Given the description of an element on the screen output the (x, y) to click on. 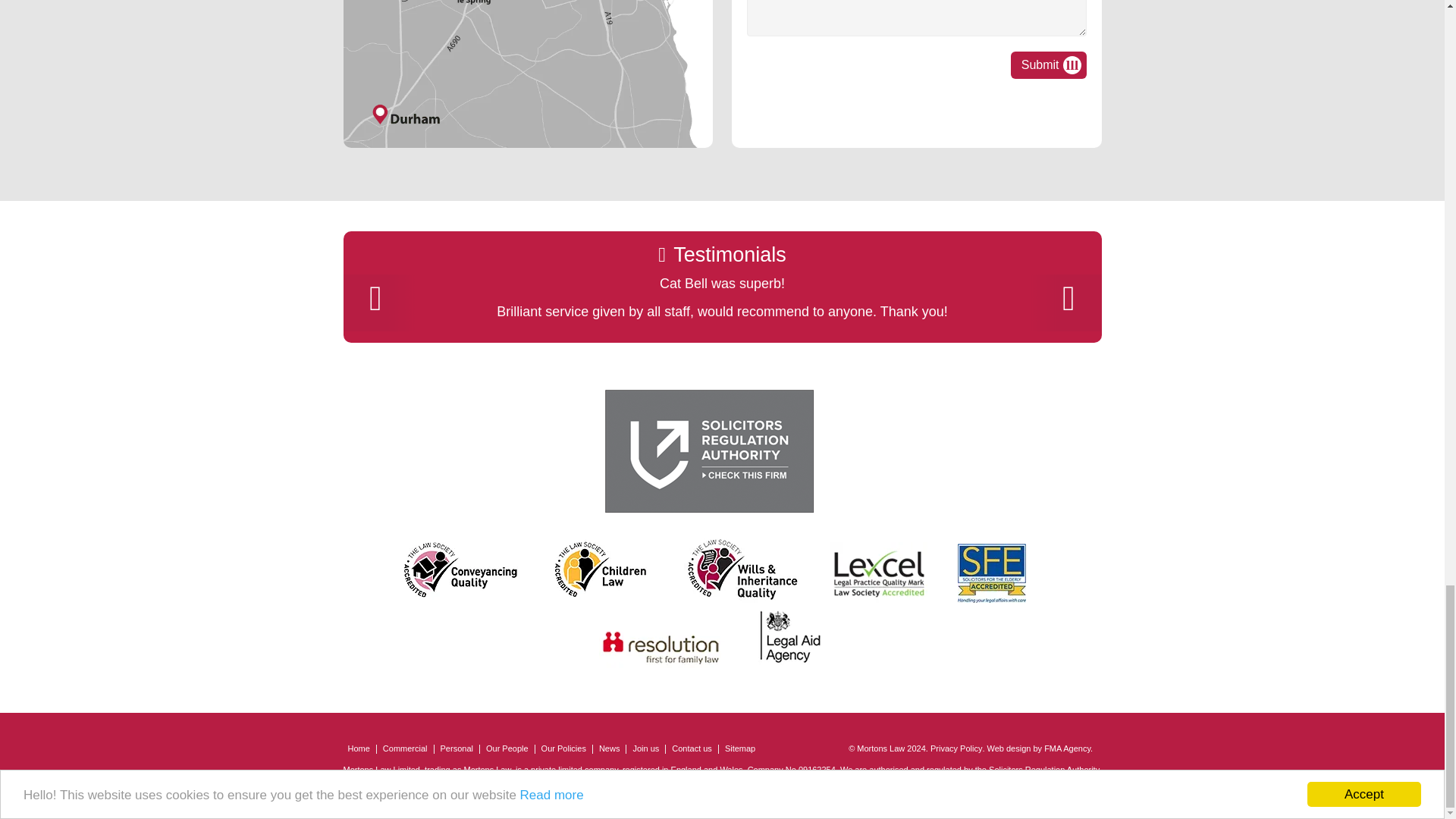
Click to see office details (527, 27)
SRA logo (709, 451)
Click to see office details (527, 101)
